Given the description of an element on the screen output the (x, y) to click on. 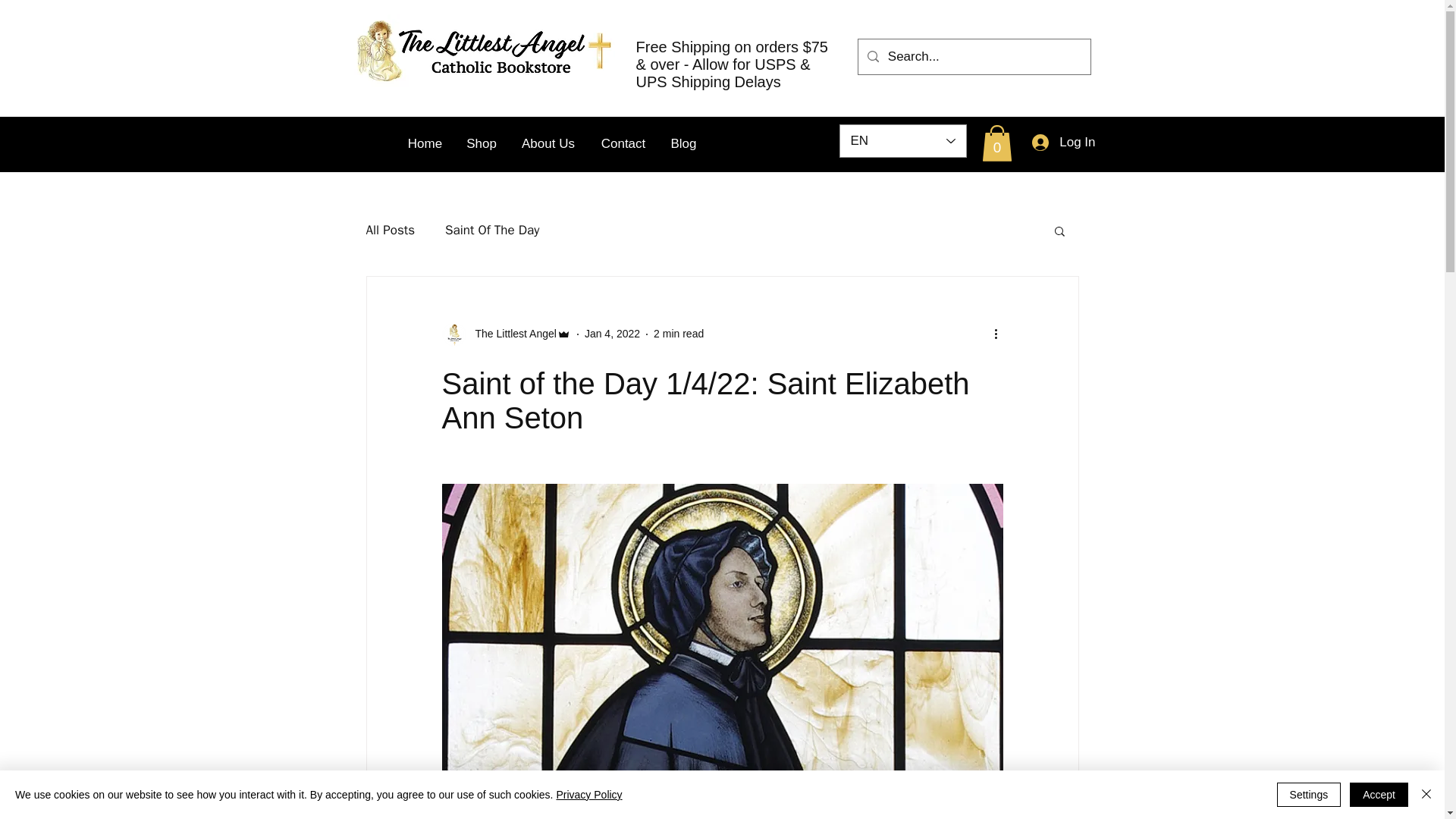
Log In (1063, 142)
2 min read (678, 333)
The Littlest Angel (510, 333)
Contact (623, 143)
Shop (481, 143)
Home (425, 143)
About Us (548, 143)
Jan 4, 2022 (612, 333)
Saint Of The Day (491, 230)
The Littlest Angel (505, 334)
